Given the description of an element on the screen output the (x, y) to click on. 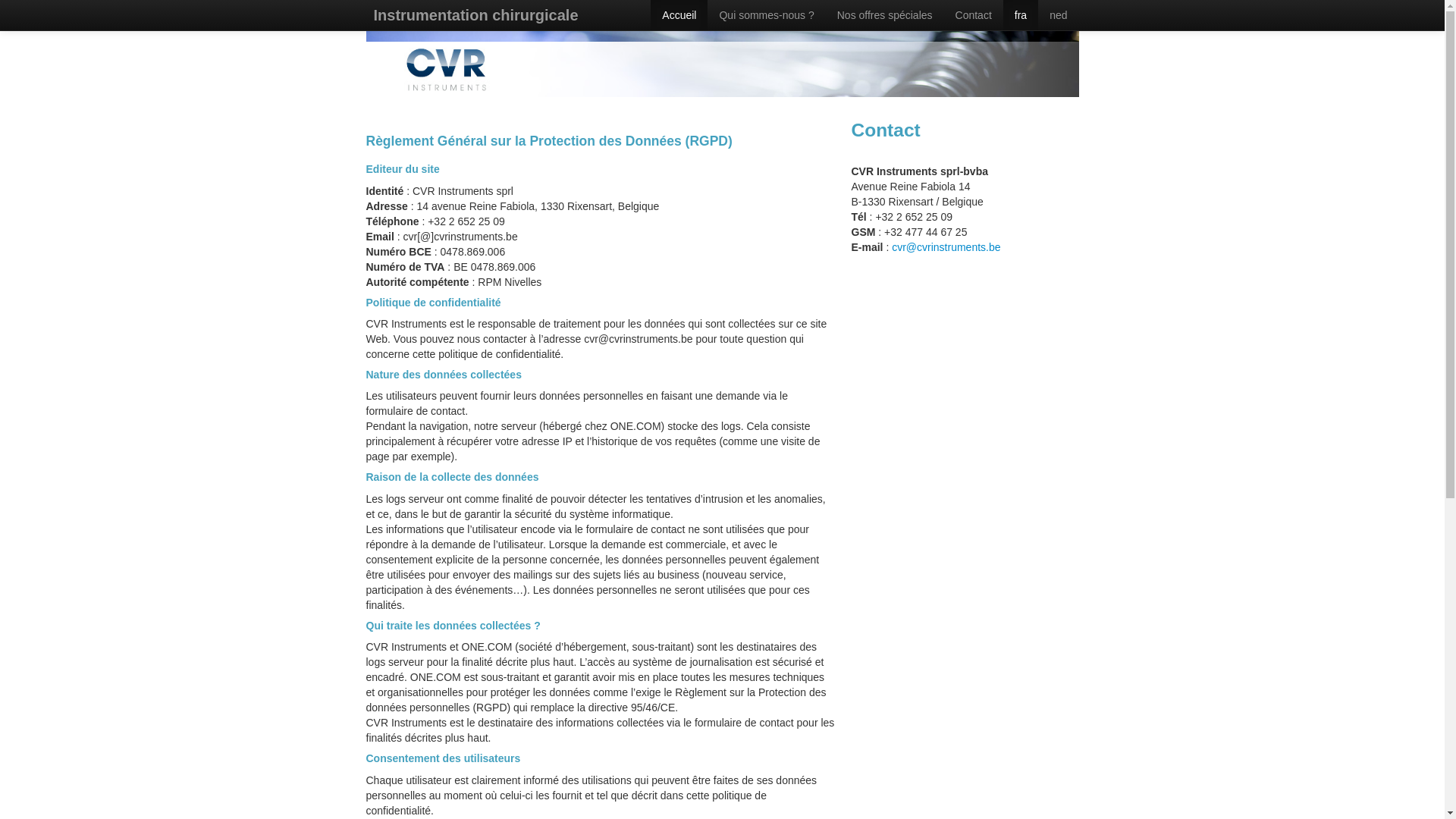
Accueil Element type: text (678, 15)
cvr@cvrinstruments.be Element type: text (945, 247)
Instrumentation chirurgicale Element type: text (475, 15)
Qui sommes-nous ? Element type: text (766, 15)
ned Element type: text (1058, 15)
fra Element type: text (1020, 15)
Contact Element type: text (973, 15)
